Given the description of an element on the screen output the (x, y) to click on. 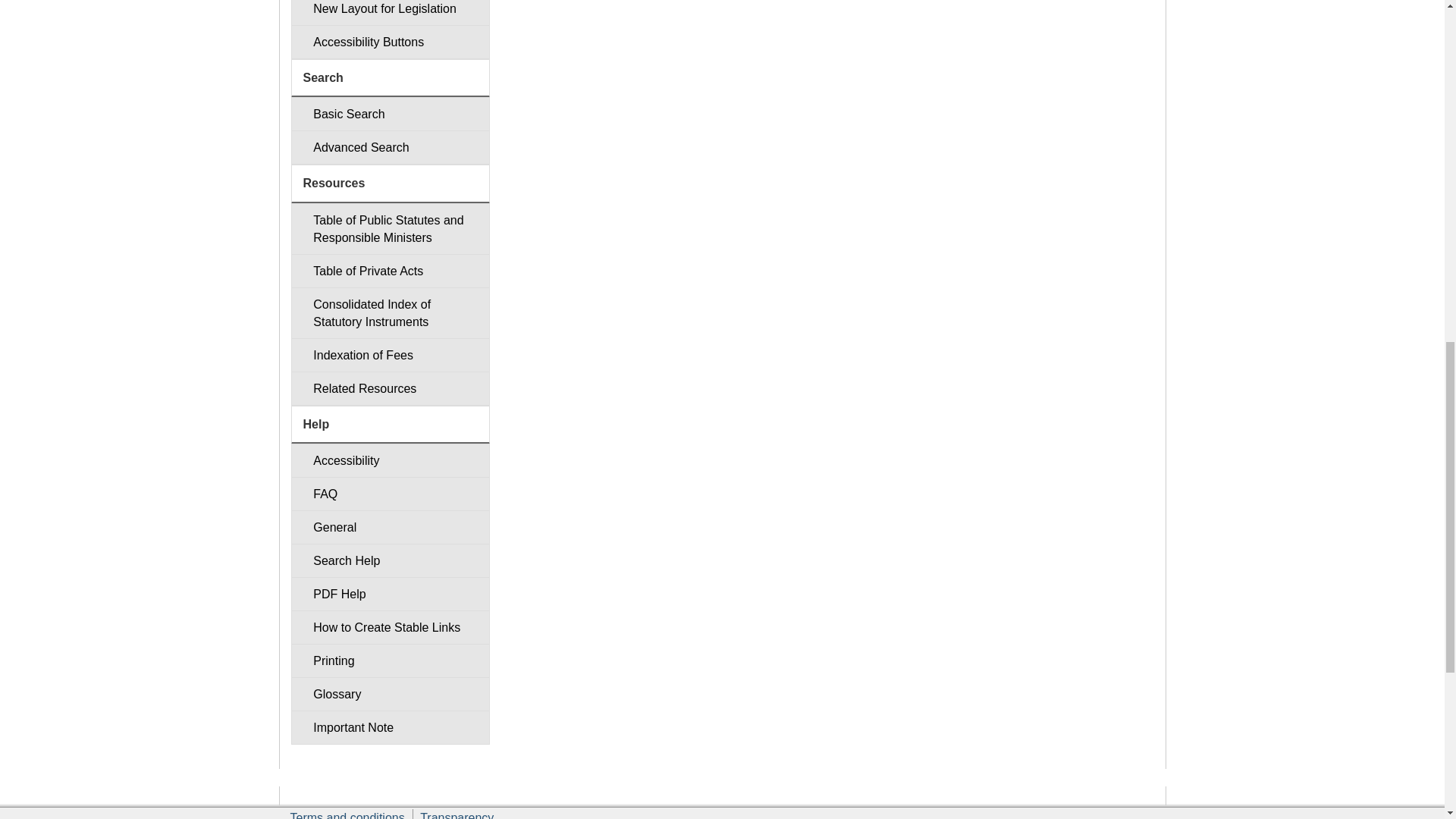
Search - Justice Laws Website (390, 114)
Accessibility Help (390, 460)
Printing Help (390, 660)
General Help (390, 527)
Frequently Asked Questions (390, 493)
Advanced Search - Justice Laws Website (390, 147)
Related Resources (390, 388)
